Given the description of an element on the screen output the (x, y) to click on. 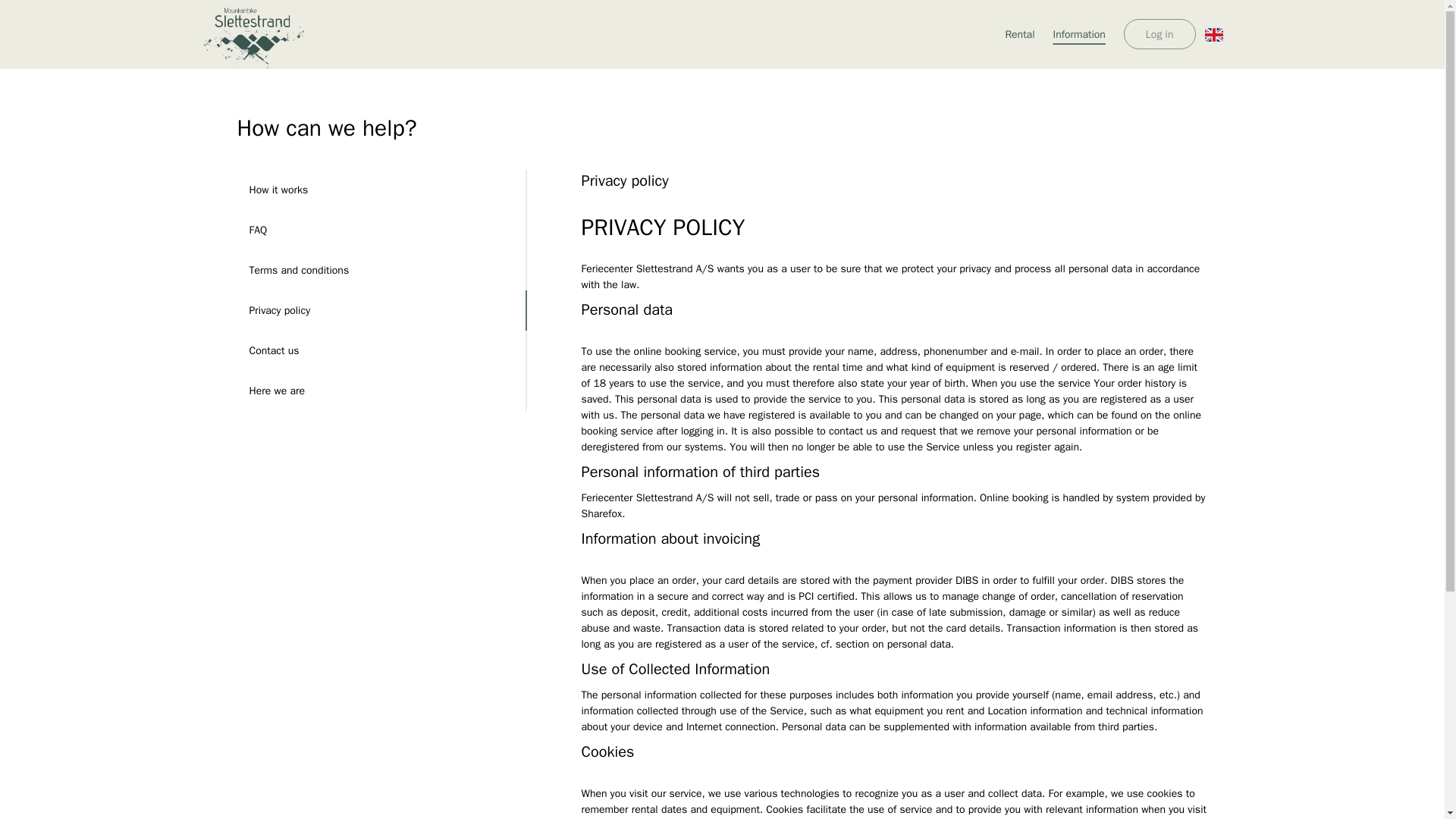
Information (1079, 34)
How it works (380, 189)
Terms and conditions (380, 270)
FAQ (380, 229)
Privacy policy (380, 310)
Log in (1159, 33)
Contact us (380, 350)
Here we are (380, 391)
Rental (1019, 34)
